Given the description of an element on the screen output the (x, y) to click on. 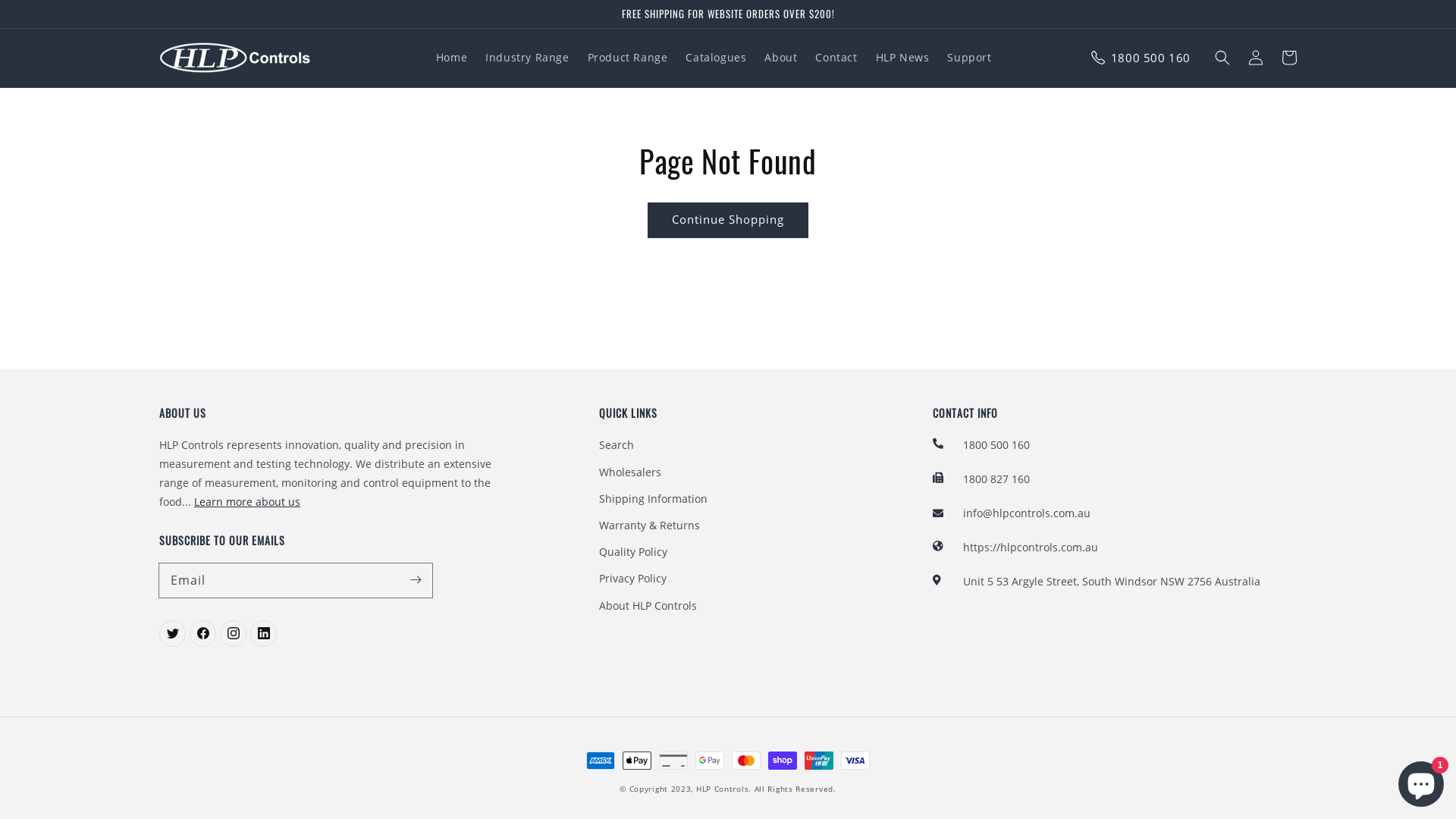
Twitter Element type: text (263, 633)
About Element type: text (780, 57)
Shopify online store chat Element type: hover (1420, 780)
Twitter Element type: text (172, 633)
Warranty & Returns Element type: text (649, 524)
HLP News Element type: text (902, 57)
Twitter Element type: text (232, 633)
HLP Controls Element type: text (722, 788)
Cart Element type: text (1288, 57)
Shipping Information Element type: text (653, 498)
1800 500 160 Element type: text (1150, 57)
Twitter Element type: text (202, 633)
Wholesalers Element type: text (630, 471)
Quality Policy Element type: text (633, 551)
Home Element type: text (451, 57)
Search Element type: text (616, 446)
Contact Element type: text (836, 57)
Learn more about us Element type: text (247, 501)
Support Element type: text (969, 57)
About HLP Controls Element type: text (647, 605)
Log in Element type: text (1255, 57)
Continue Shopping Element type: text (727, 220)
Industry Range Element type: text (526, 57)
Product Range Element type: text (627, 57)
Catalogues Element type: text (715, 57)
Privacy Policy Element type: text (632, 577)
